Given the description of an element on the screen output the (x, y) to click on. 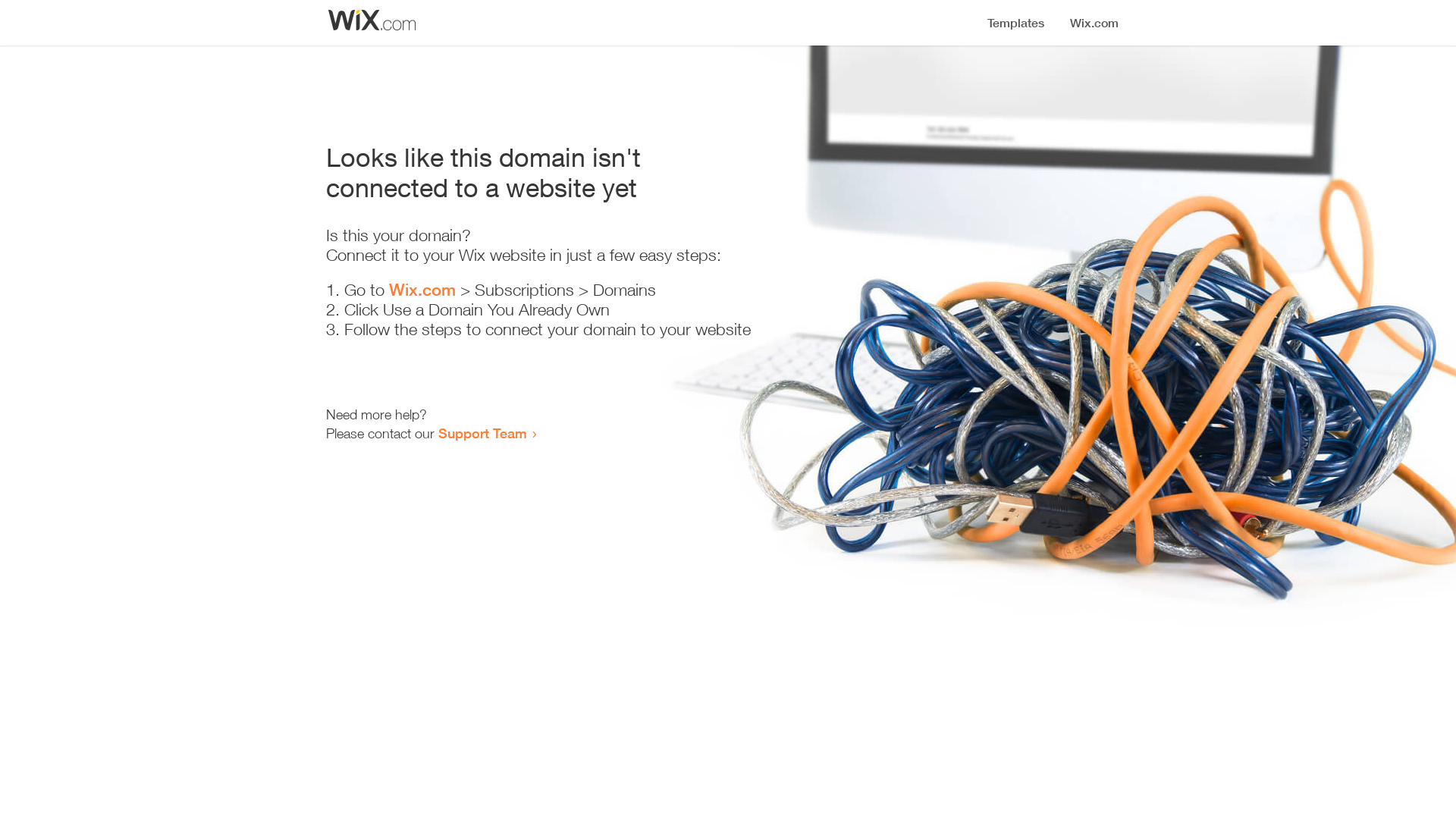
Wix.com Element type: text (422, 289)
Support Team Element type: text (482, 432)
